Given the description of an element on the screen output the (x, y) to click on. 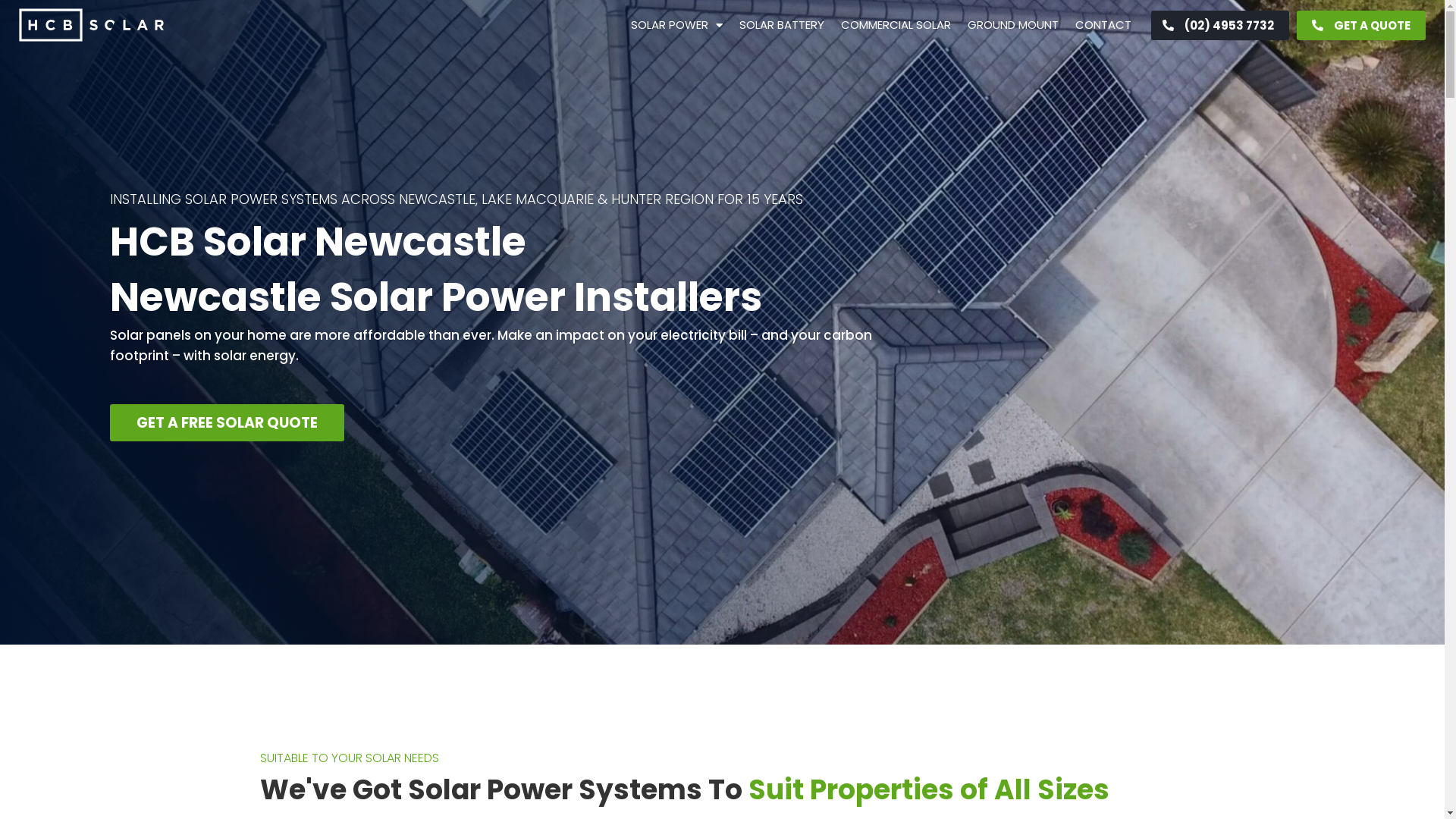
CONTACT Element type: text (1102, 24)
GET A QUOTE Element type: text (1360, 25)
GROUND MOUNT Element type: text (1012, 24)
COMMERCIAL SOLAR Element type: text (895, 24)
(02) 4953 7732 Element type: text (1220, 25)
GET A FREE SOLAR QUOTE Element type: text (226, 422)
SOLAR POWER Element type: text (676, 24)
SOLAR BATTERY Element type: text (781, 24)
